Given the description of an element on the screen output the (x, y) to click on. 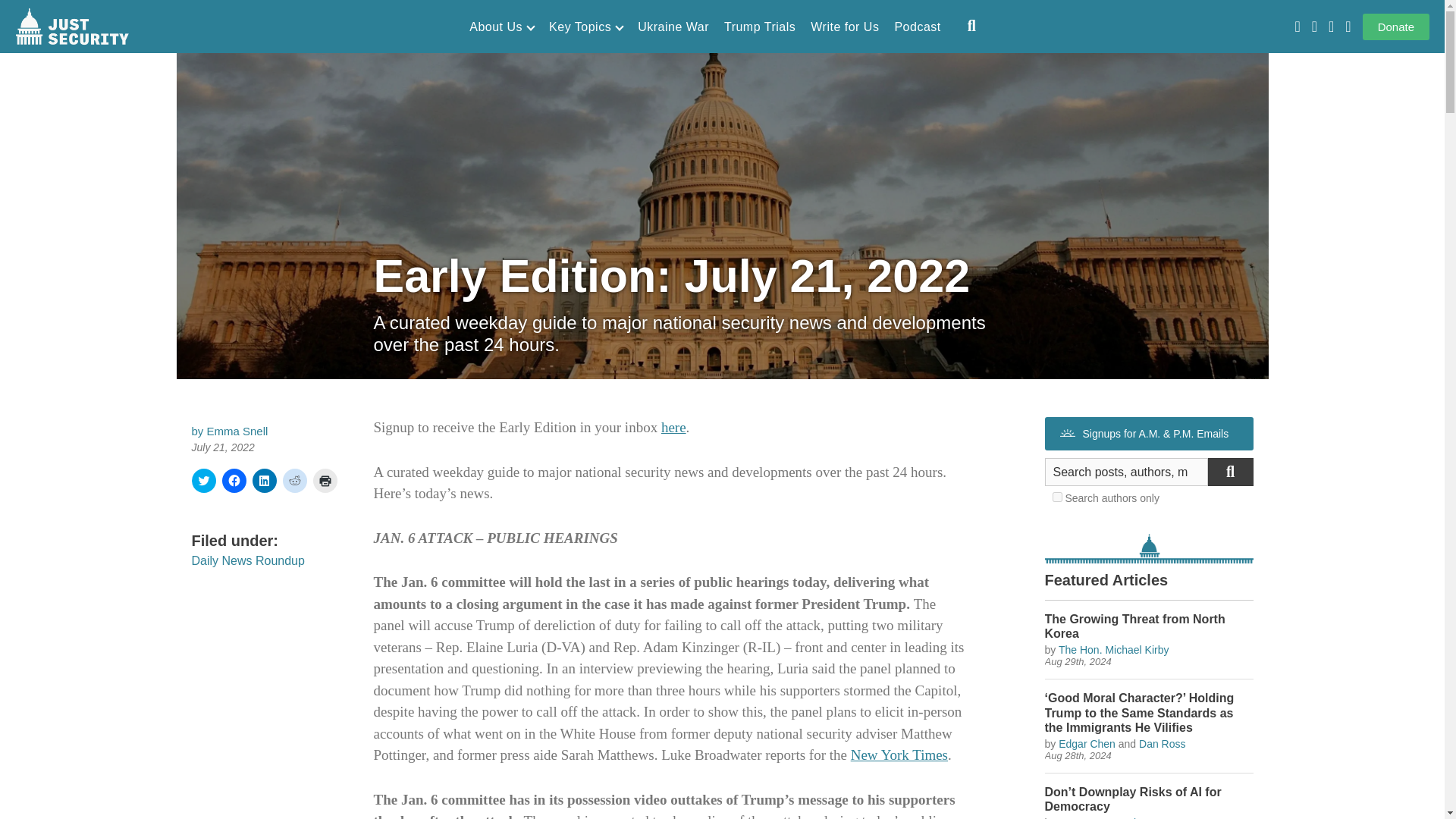
Click to share on Facebook (233, 480)
Donate (1395, 26)
Click to print (324, 480)
About Us (501, 27)
Click to share on Reddit (293, 480)
Podcast (916, 27)
on (1057, 497)
Profile and articles by Emma Snell (236, 431)
Click to share on LinkedIn (263, 480)
Key Topics (585, 27)
